Given the description of an element on the screen output the (x, y) to click on. 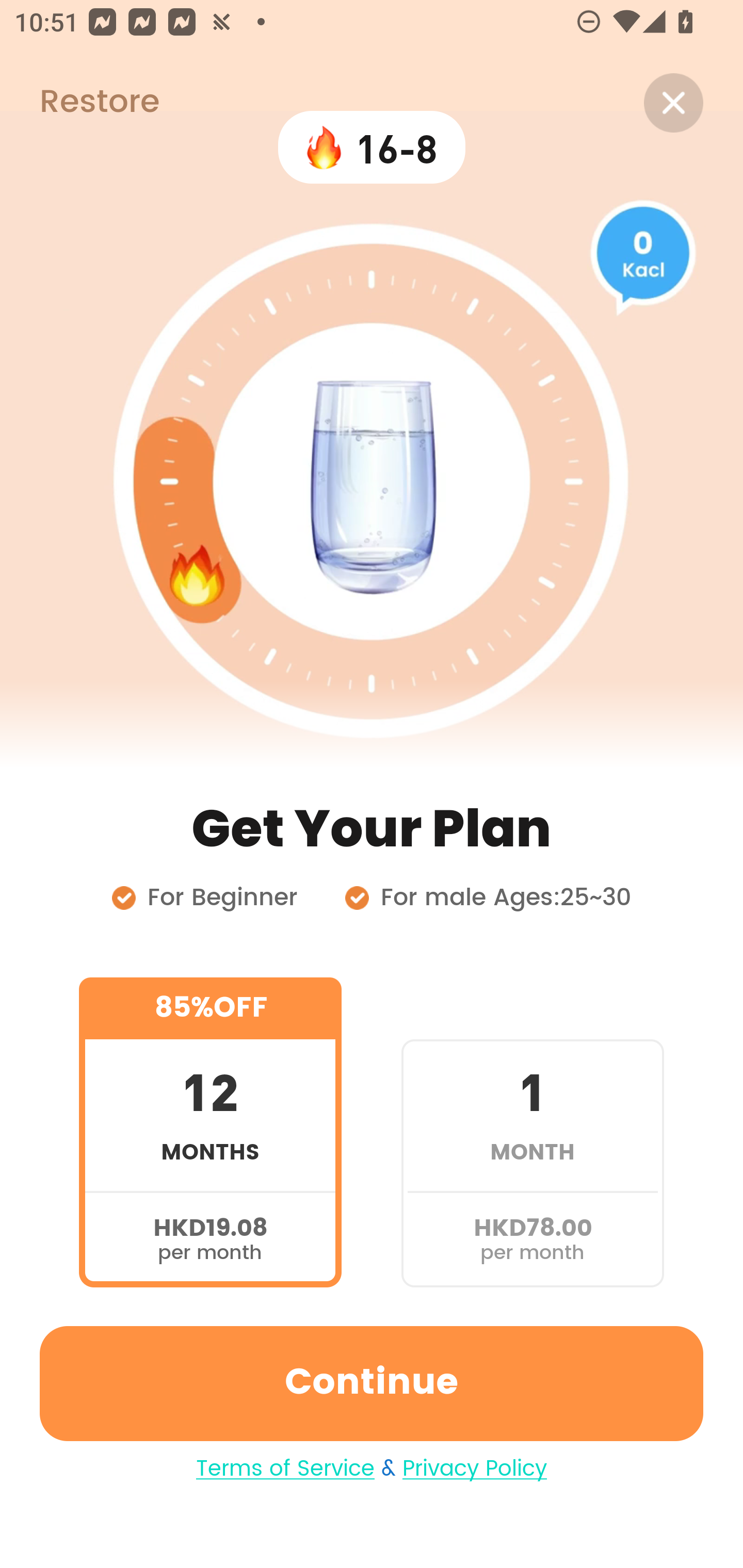
Restore (79, 102)
85%OFF 12 MONTHS per month HKD19.08 (209, 1131)
1 MONTH per month HKD78.00 (532, 1131)
Continue (371, 1383)
